Given the description of an element on the screen output the (x, y) to click on. 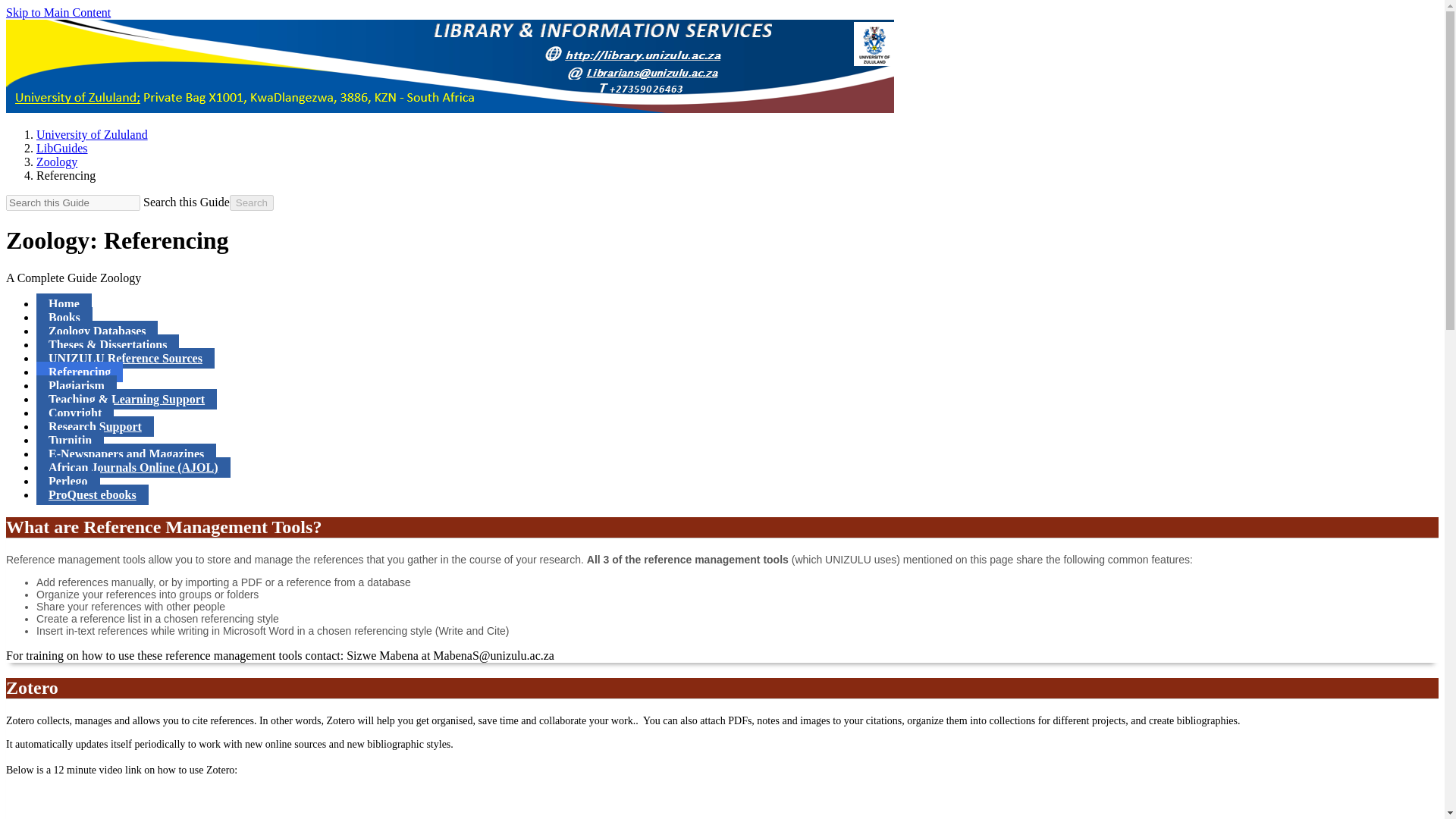
Online News Papers and Magazines (125, 453)
Copyright (74, 412)
ProQuest ebooks (92, 494)
Turnitin (69, 439)
YouTube video player (217, 803)
University of Zululand (92, 133)
Research Support (95, 426)
Perlego (68, 480)
Books (64, 317)
UNIZULU Reference Sources (125, 358)
Skip to Main Content (57, 11)
E-Newspapers and Magazines (125, 453)
Search (251, 202)
Referencing (79, 371)
Home (63, 303)
